Given the description of an element on the screen output the (x, y) to click on. 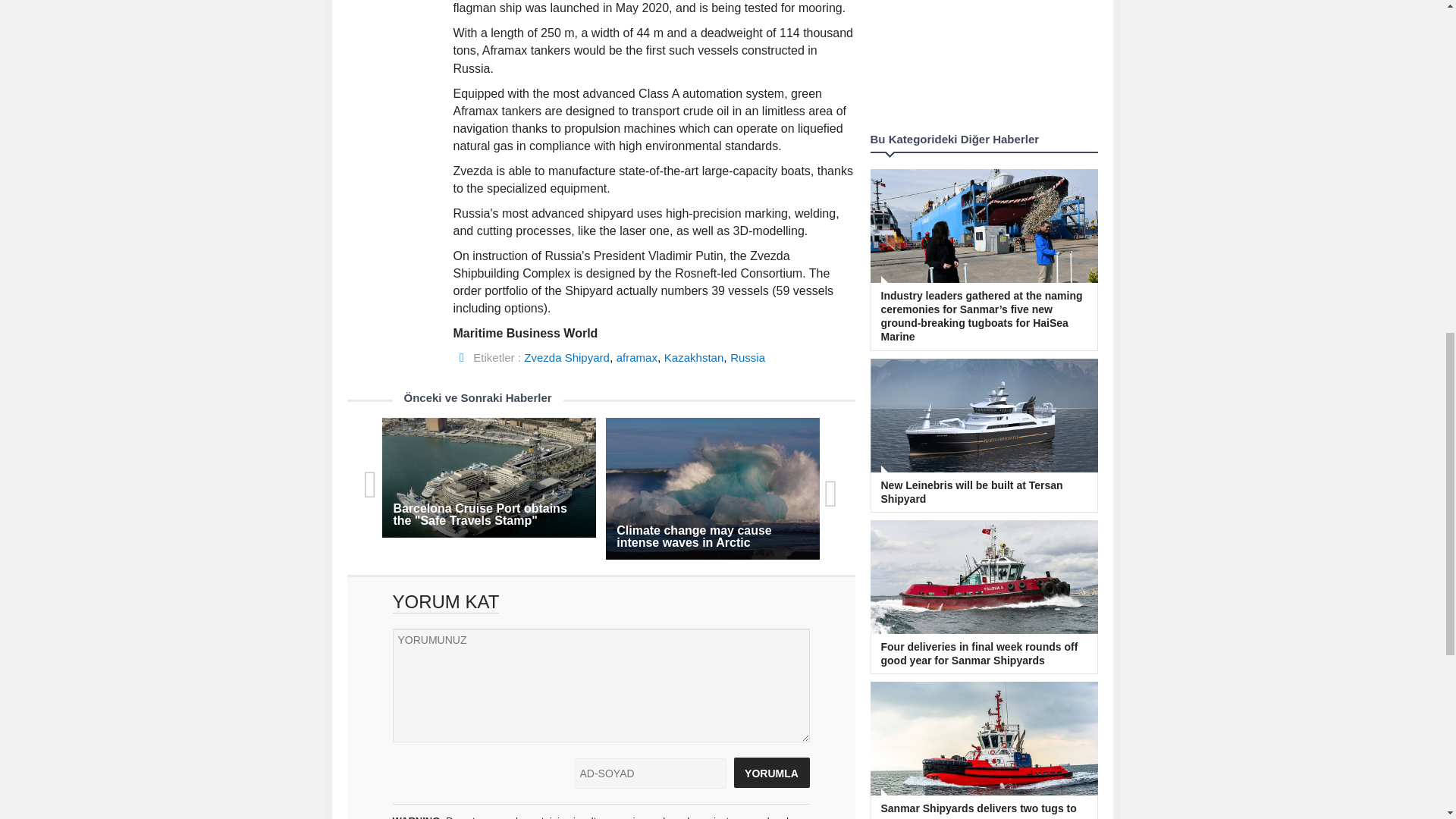
Advertisement (983, 61)
YORUMLA (771, 772)
aframax haberleri (636, 357)
Russia haberleri (747, 357)
Zvezda Shipyard haberleri (567, 357)
Kazakhstan haberleri (693, 357)
